Given the description of an element on the screen output the (x, y) to click on. 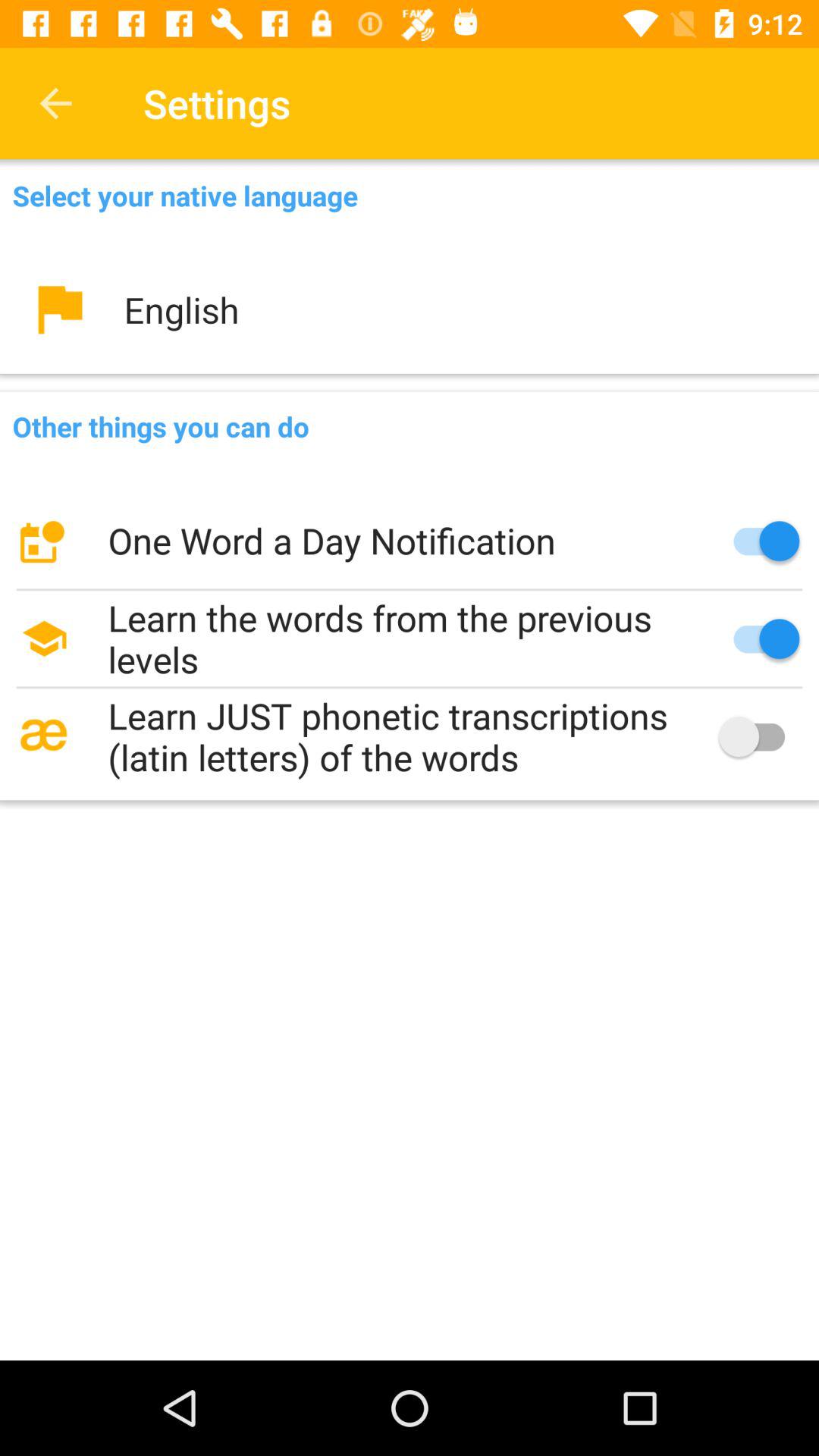
scroll to the english (409, 309)
